Given the description of an element on the screen output the (x, y) to click on. 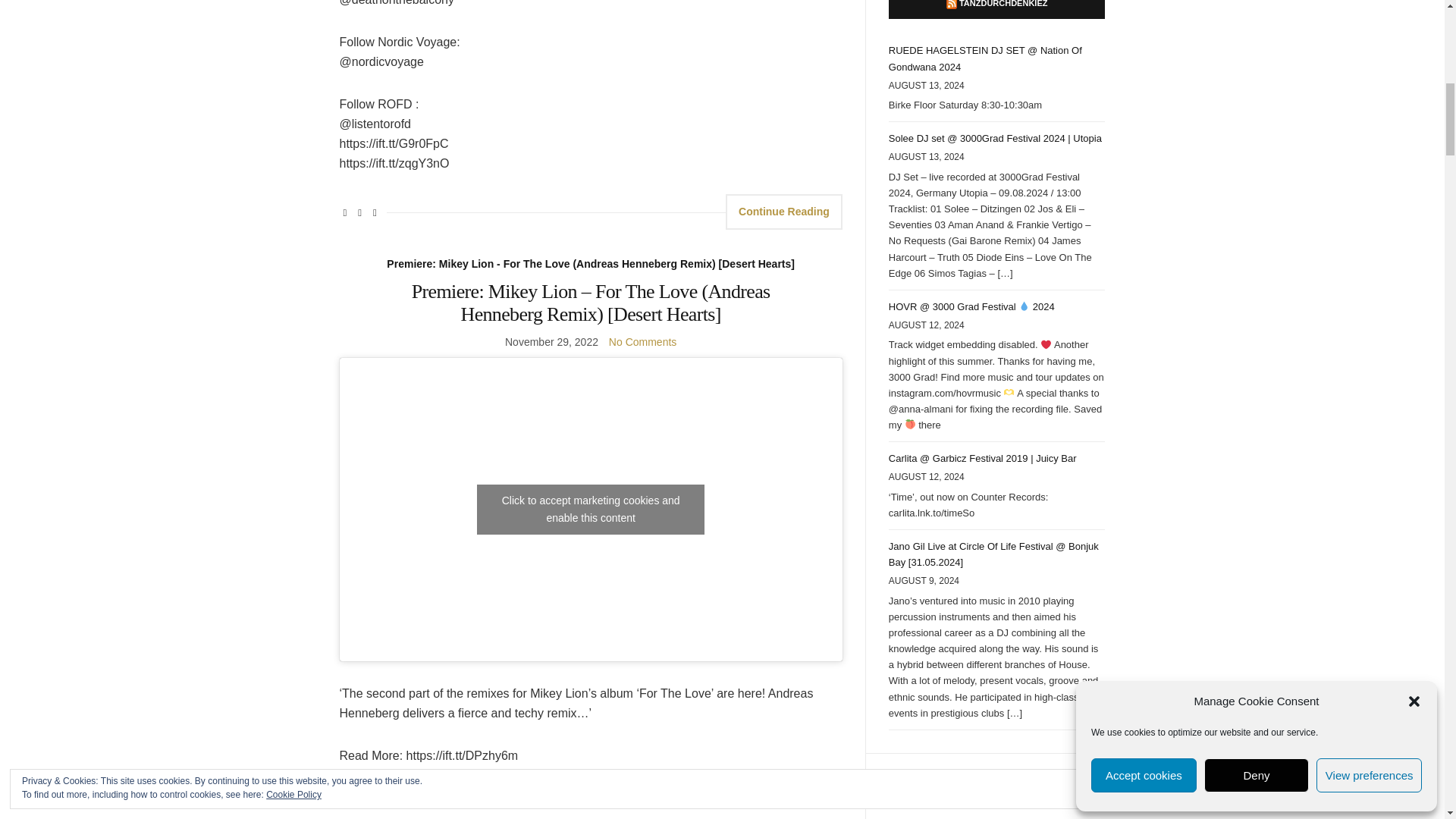
Continue Reading (784, 212)
Click to accept marketing cookies and enable this content (590, 509)
No Comments (642, 341)
